Given the description of an element on the screen output the (x, y) to click on. 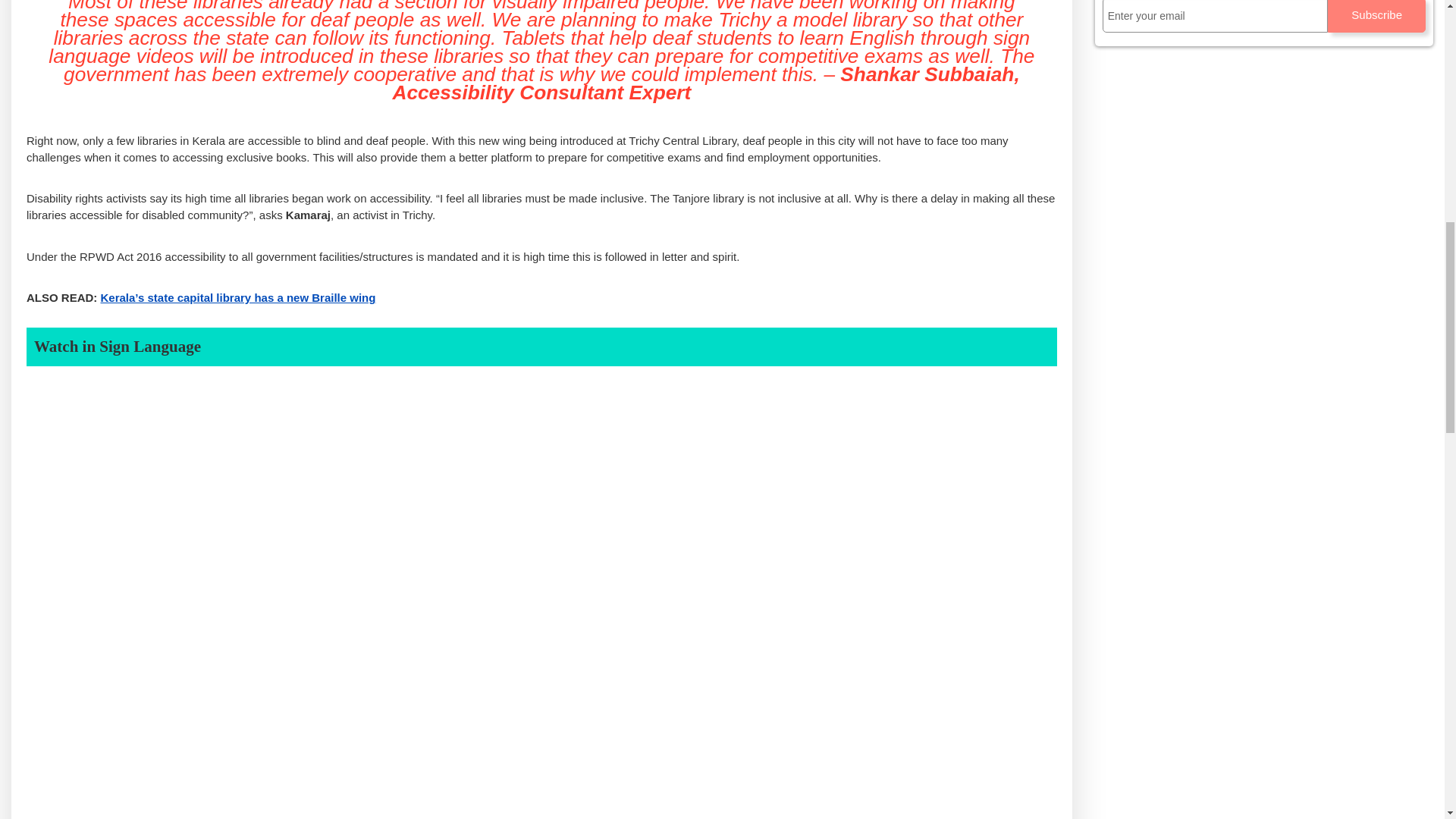
Subscribe (1376, 16)
